Given the description of an element on the screen output the (x, y) to click on. 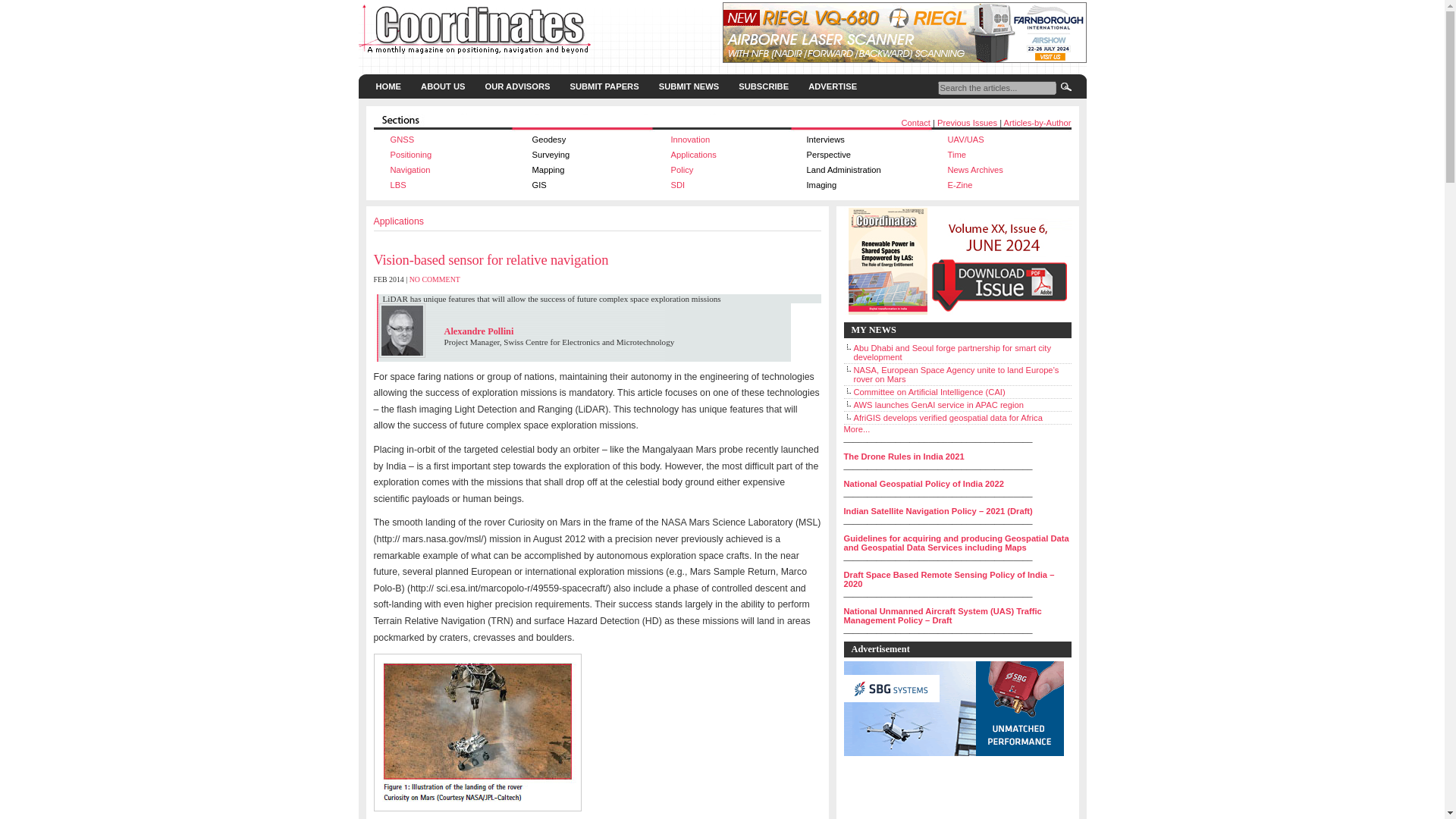
Mapping (548, 169)
Previous Issues (967, 122)
SDI (676, 184)
Enter the terms you wish to search for. (996, 88)
Applications (692, 153)
Perspective (828, 153)
Applications (397, 221)
NO COMMENT (434, 279)
Interviews (825, 139)
SUBMIT PAPERS (603, 86)
Imaging (821, 184)
Innovation (689, 139)
Policy (681, 169)
HOME (387, 86)
ABOUT US (442, 86)
